Given the description of an element on the screen output the (x, y) to click on. 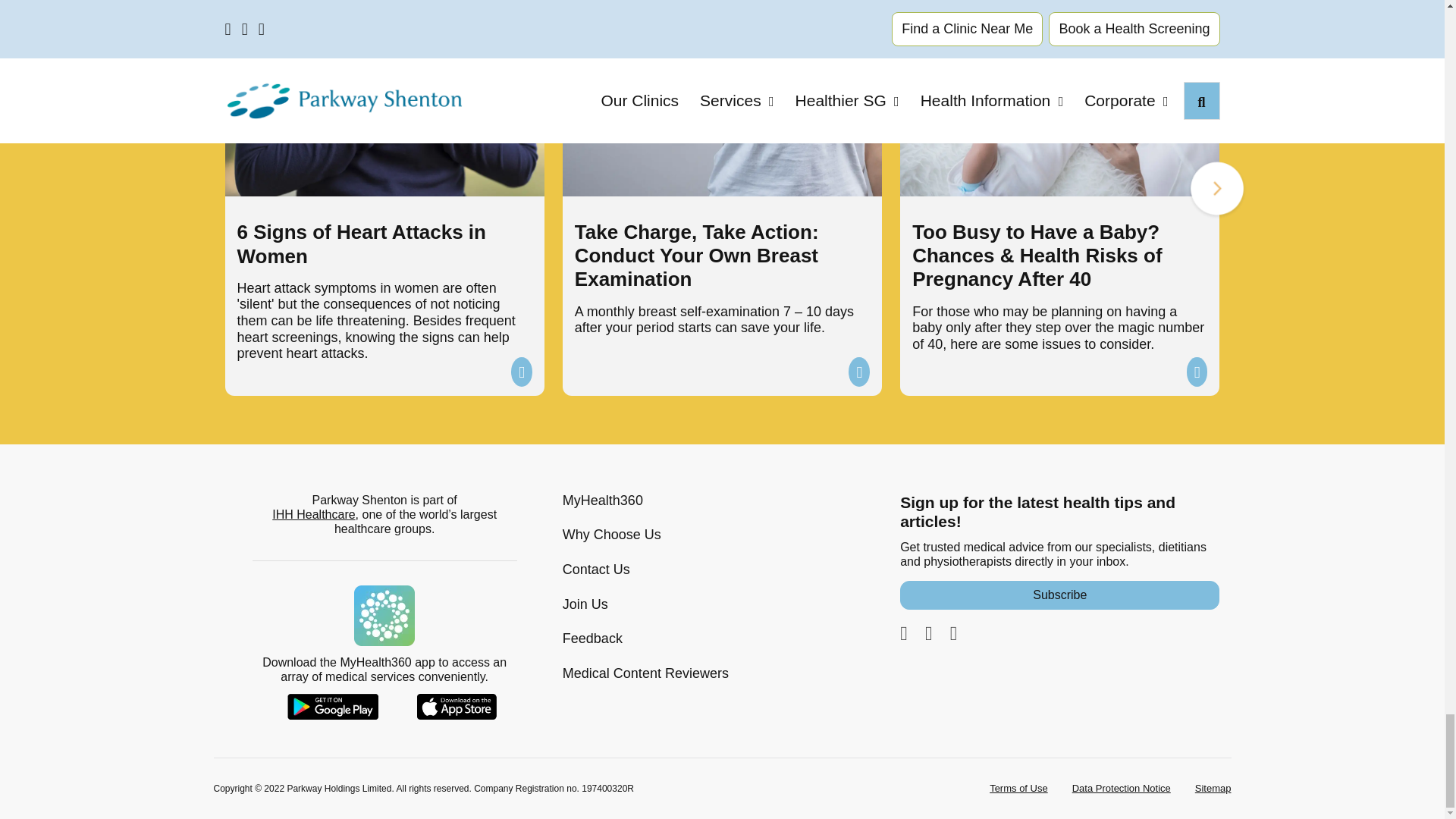
Parkway Shenton Instagram (928, 632)
Parkway Shenton Whatsapp (954, 632)
Parkway Shenton Facebook (903, 632)
